Given the description of an element on the screen output the (x, y) to click on. 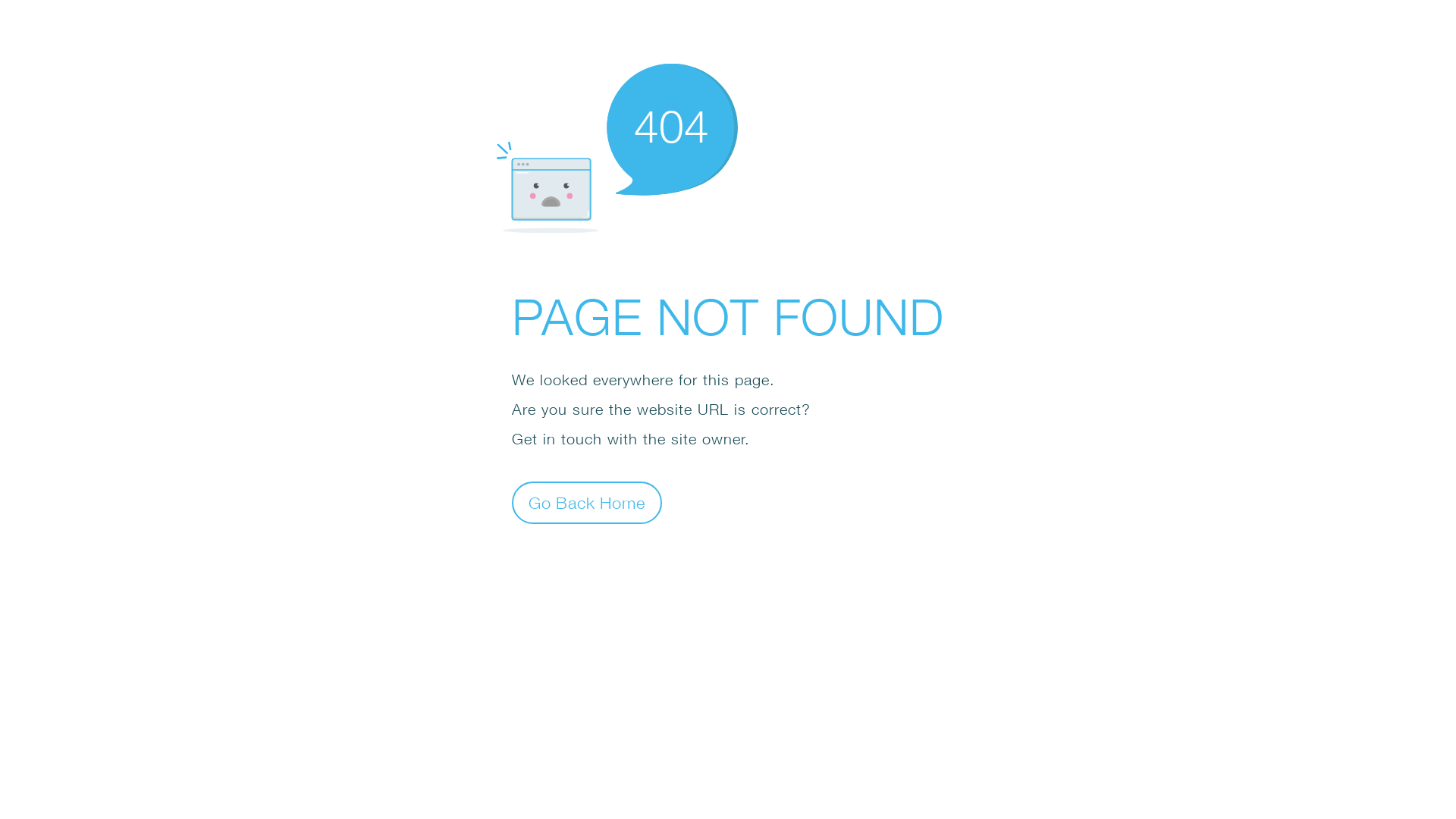
Go Back Home Element type: text (586, 502)
